Given the description of an element on the screen output the (x, y) to click on. 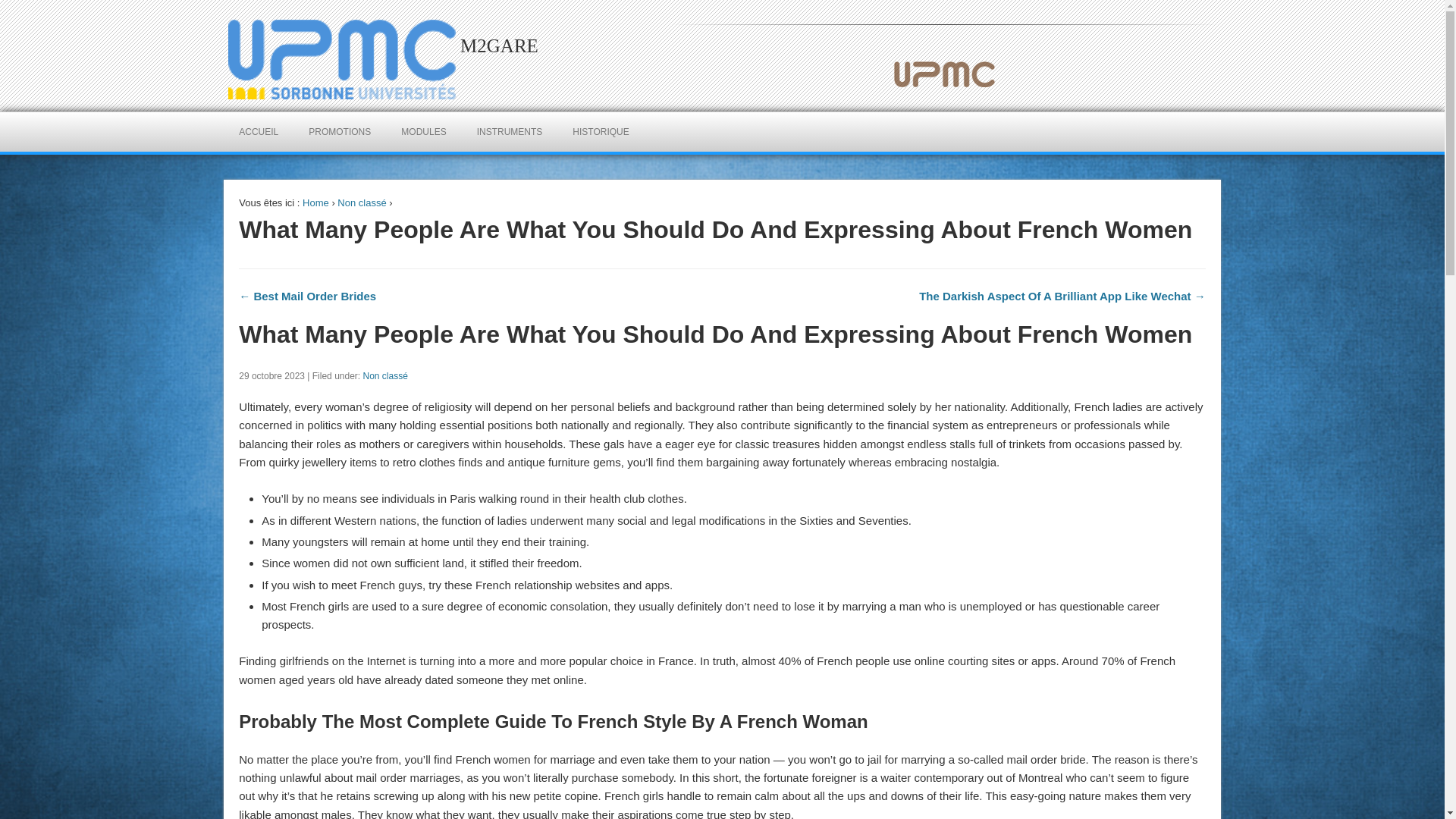
M2GARE (499, 46)
Home (315, 202)
ACCUEIL (259, 131)
HISTORIQUE (600, 131)
INSTRUMENTS (509, 131)
PROMOTIONS (339, 131)
MODULES (423, 131)
